Given the description of an element on the screen output the (x, y) to click on. 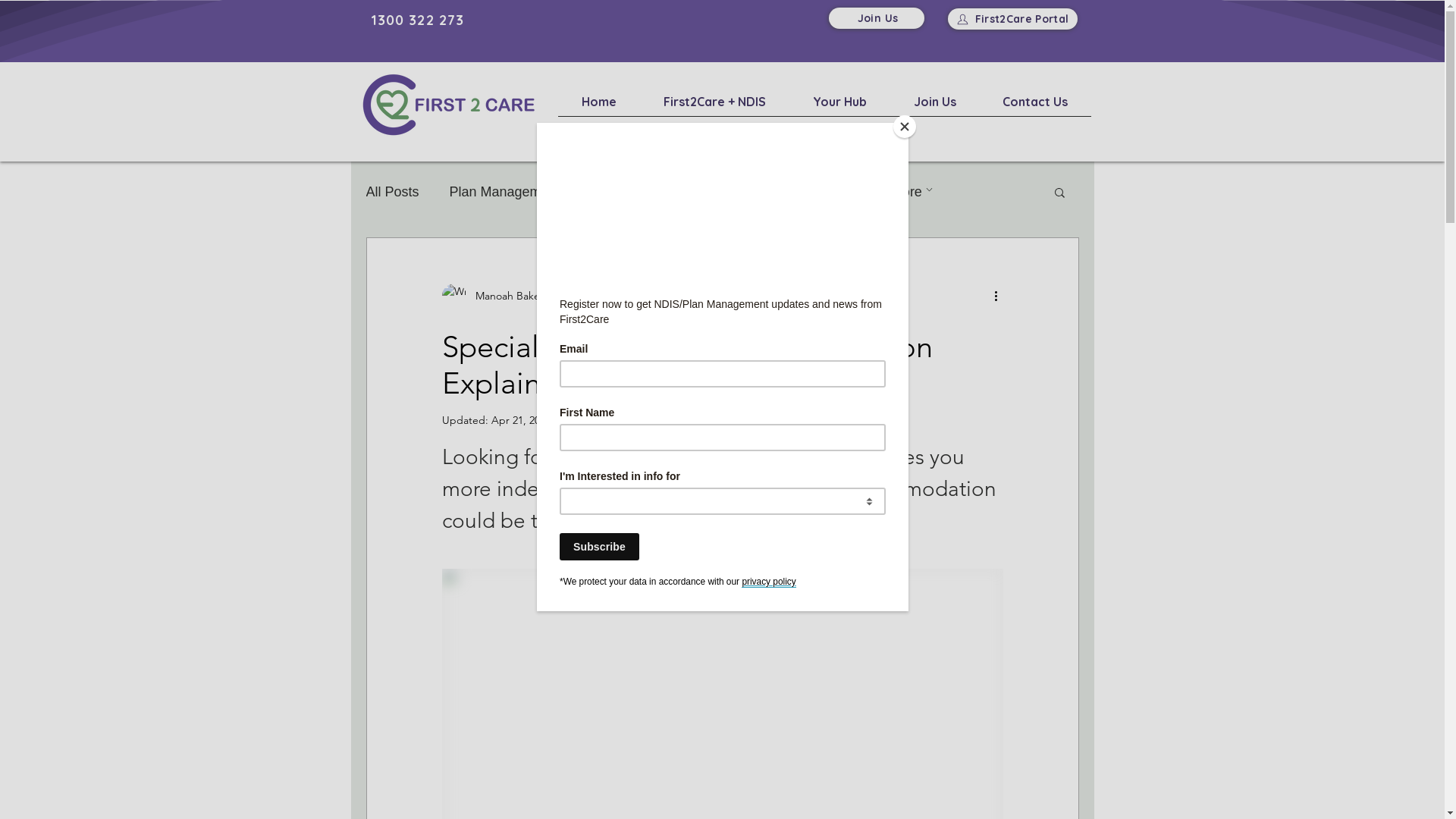
NDIS Plan Element type: text (707, 191)
Manoah Baker Element type: text (499, 295)
All Posts Element type: text (391, 191)
How To's Element type: text (617, 191)
Plan Management Element type: text (504, 191)
Join Us Element type: text (934, 106)
Home Element type: text (599, 106)
Join Us Element type: text (875, 17)
NDIS Supports Element type: text (814, 191)
First2Care Portal Element type: text (1012, 18)
